Given the description of an element on the screen output the (x, y) to click on. 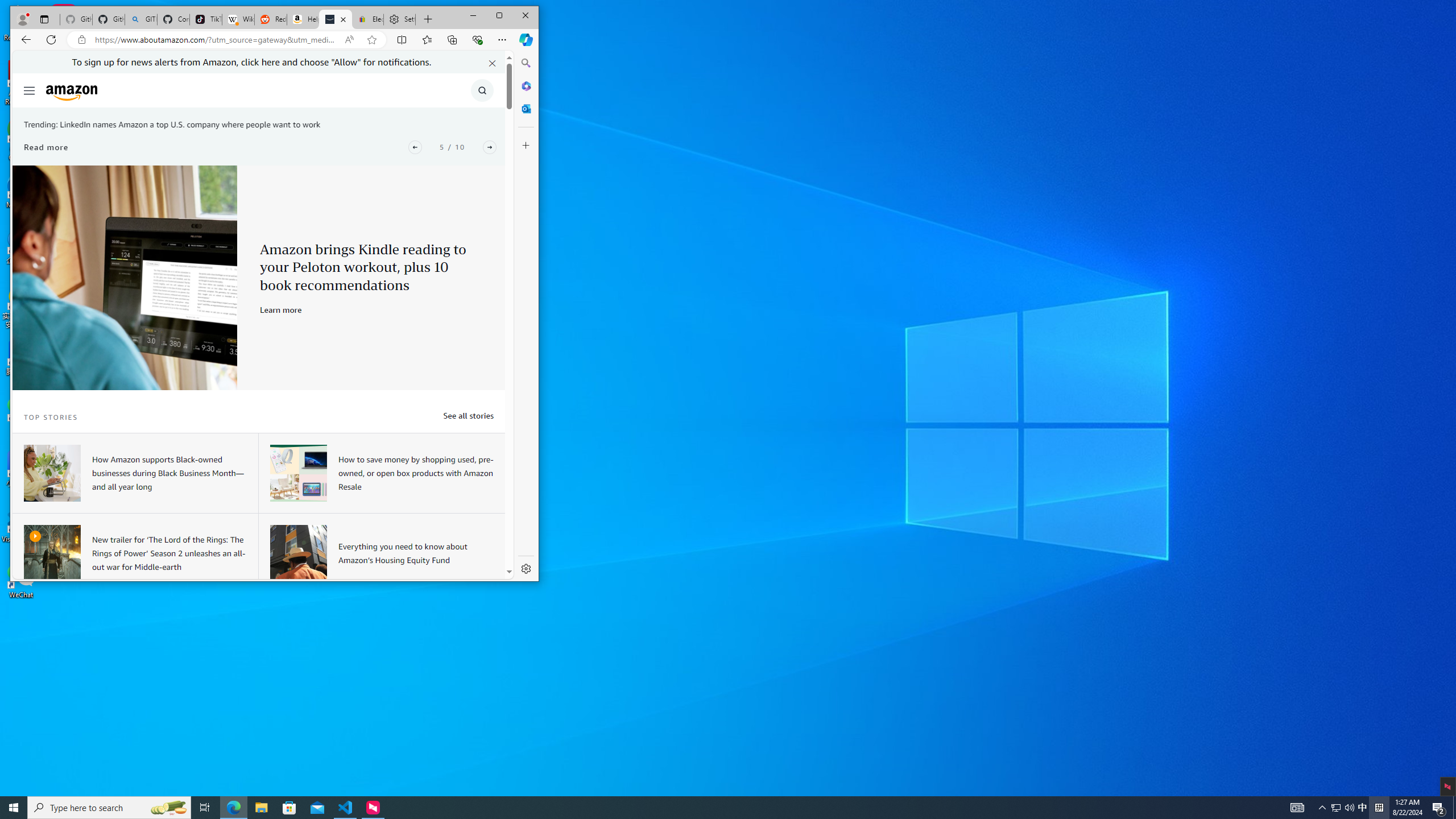
Microsoft Edge - 1 running window (233, 807)
Search highlights icon opens search home window (1335, 807)
Peloton x Kindle (167, 807)
A woman sitting at a desk working on a laptop device. (125, 277)
